Given the description of an element on the screen output the (x, y) to click on. 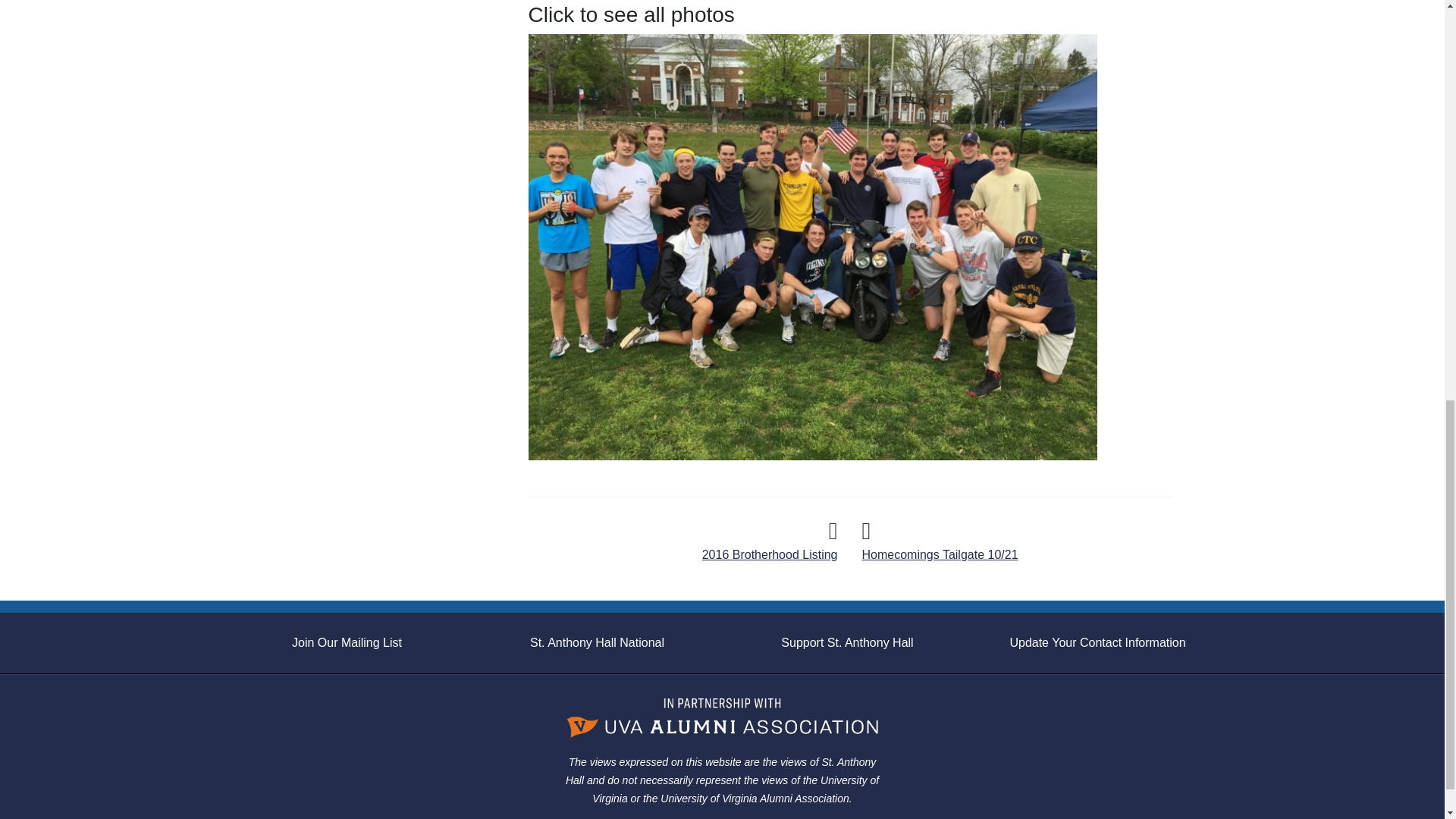
Update Your Contact Information (1097, 642)
Join Our Mailing List (346, 642)
2016 Brotherhood Listing (769, 543)
St. Anthony Hall National (596, 642)
Support St. Anthony Hall (846, 642)
